Given the description of an element on the screen output the (x, y) to click on. 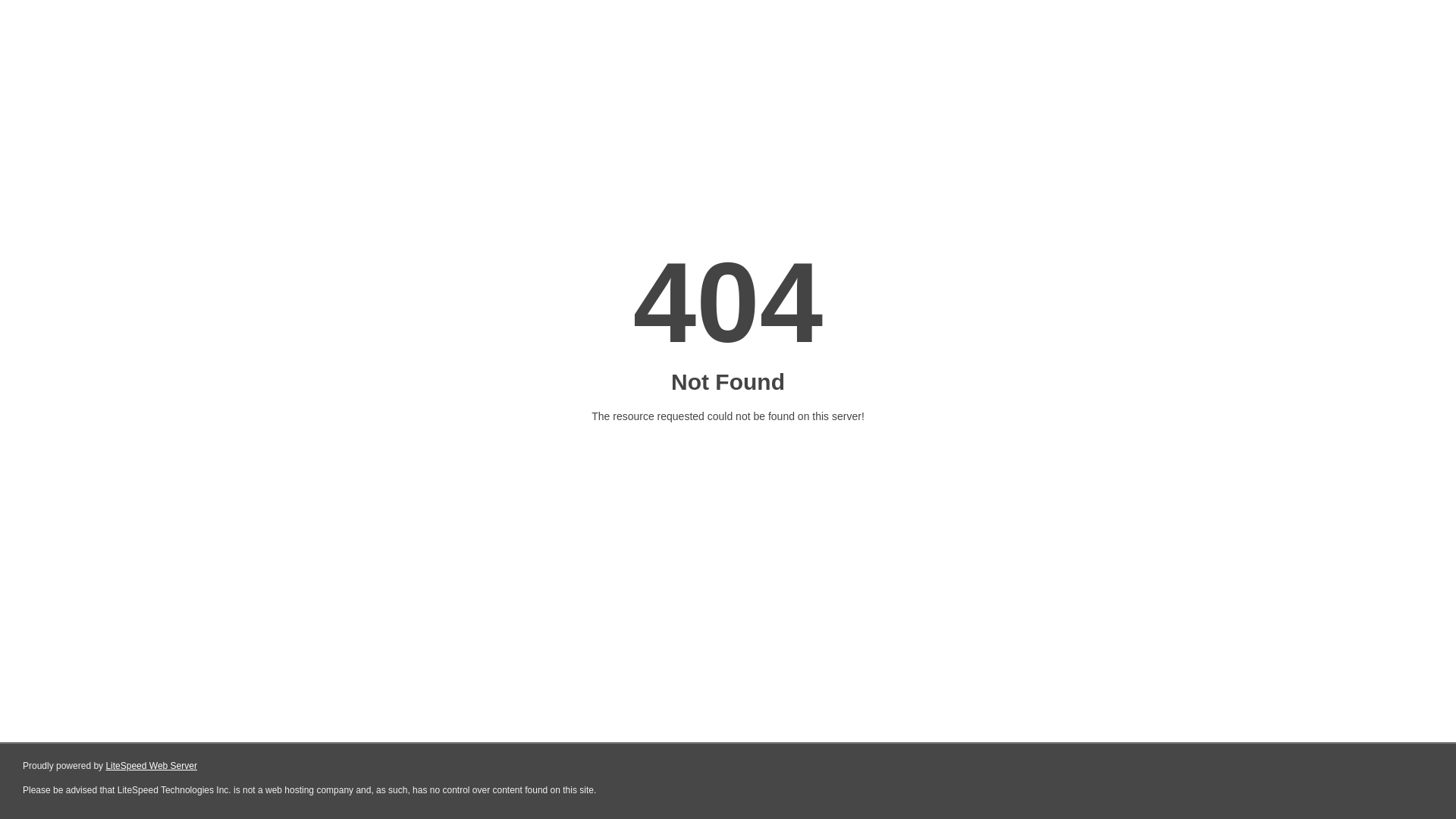
LiteSpeed Web Server Element type: text (151, 765)
